Given the description of an element on the screen output the (x, y) to click on. 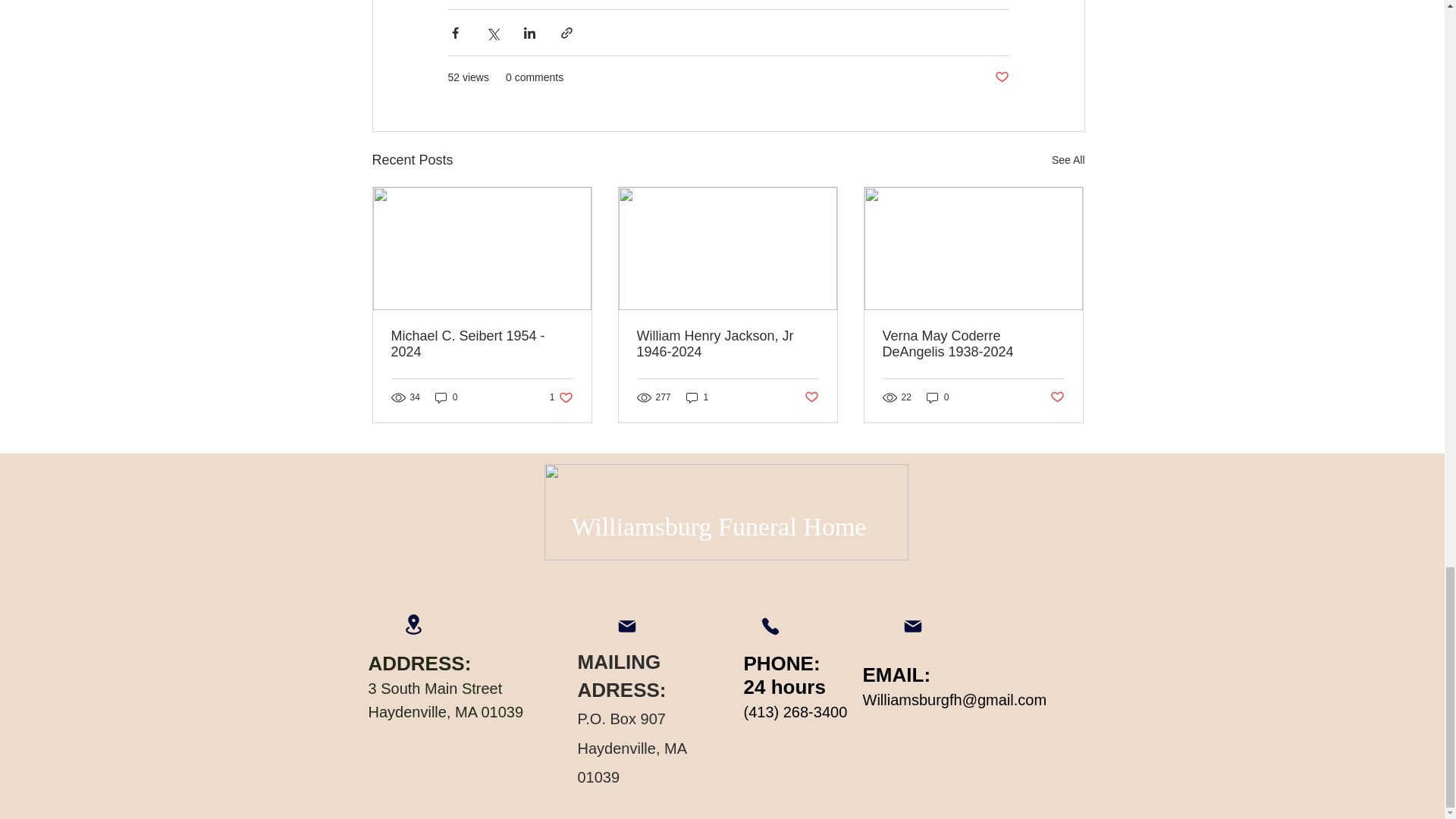
William Henry Jackson, Jr 1946-2024 (727, 344)
See All (1067, 160)
Post not marked as liked (1001, 77)
Post not marked as liked (1056, 397)
Verna May Coderre DeAngelis 1938-2024 (973, 344)
0 (446, 397)
0 (937, 397)
1 (561, 397)
Michael C. Seibert 1954 - 2024 (697, 397)
Post not marked as liked (482, 344)
